Given the description of an element on the screen output the (x, y) to click on. 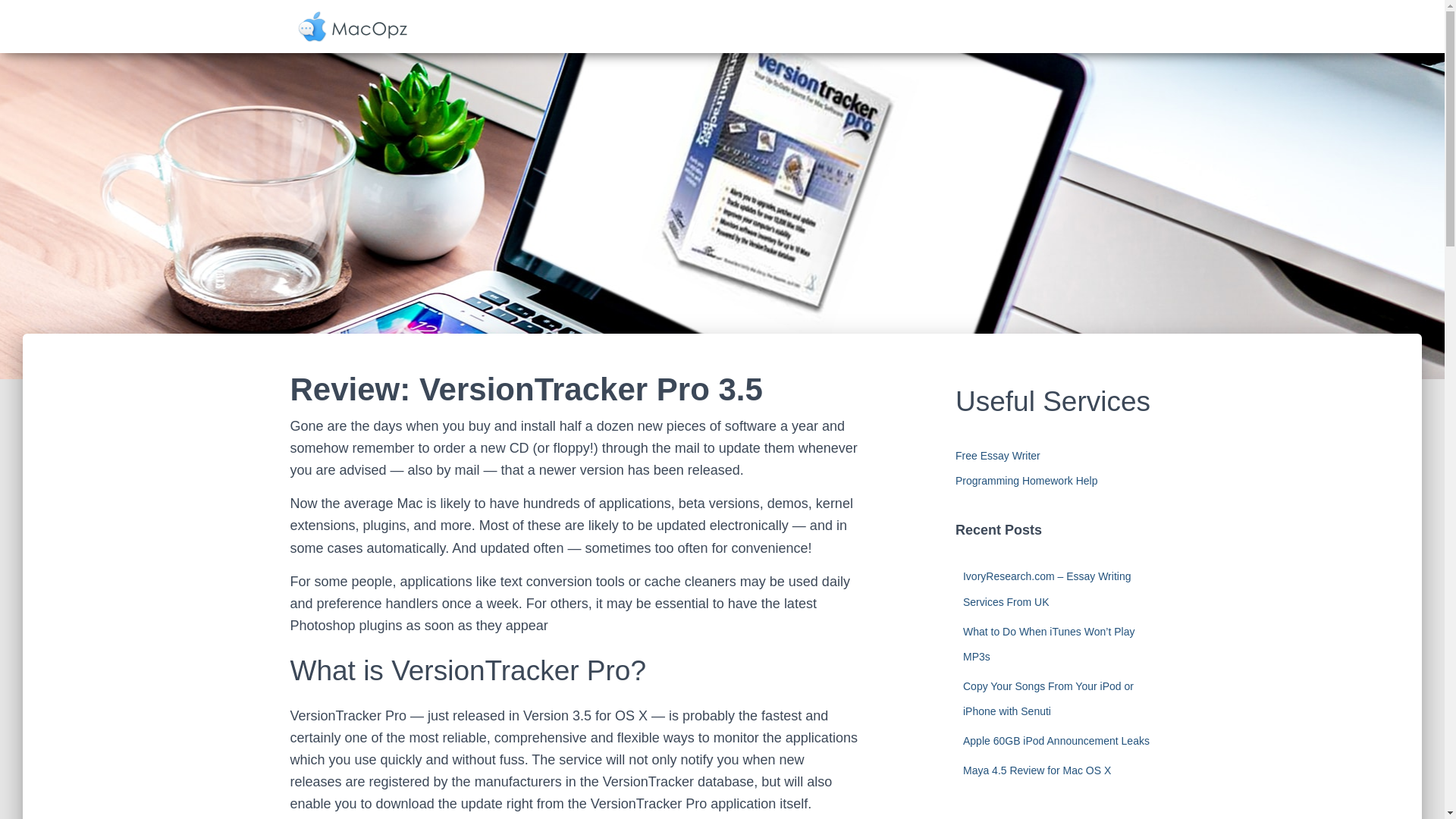
MacOpz (351, 26)
Programming Homework Help (1026, 480)
Apple 60GB iPod Announcement Leaks (1056, 740)
Free Essay Writer (998, 455)
Maya 4.5 Review for Mac OS X (1036, 770)
Copy Your Songs From Your iPod or iPhone with Senuti (1048, 699)
